Given the description of an element on the screen output the (x, y) to click on. 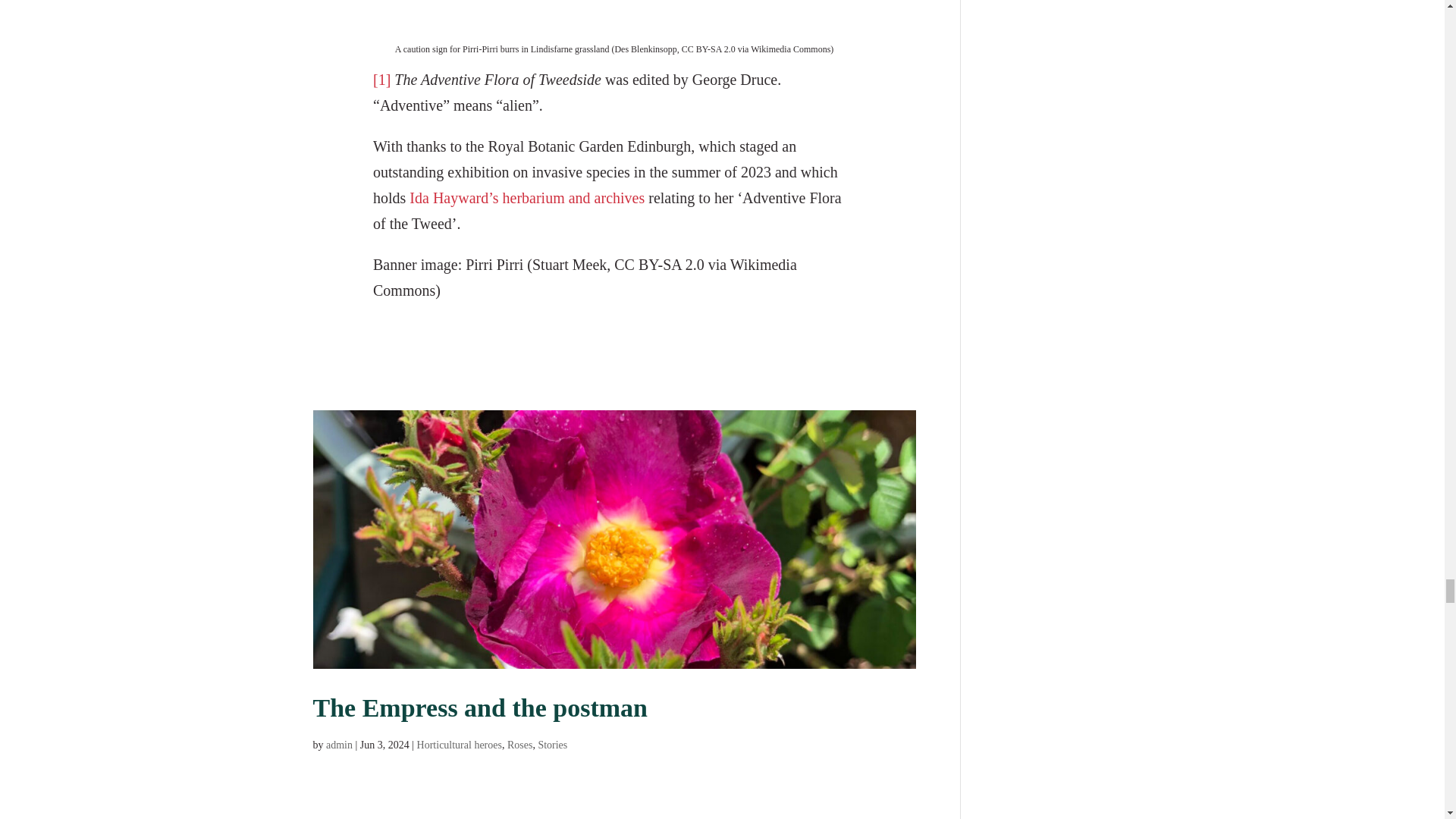
Posts by admin (339, 745)
